Given the description of an element on the screen output the (x, y) to click on. 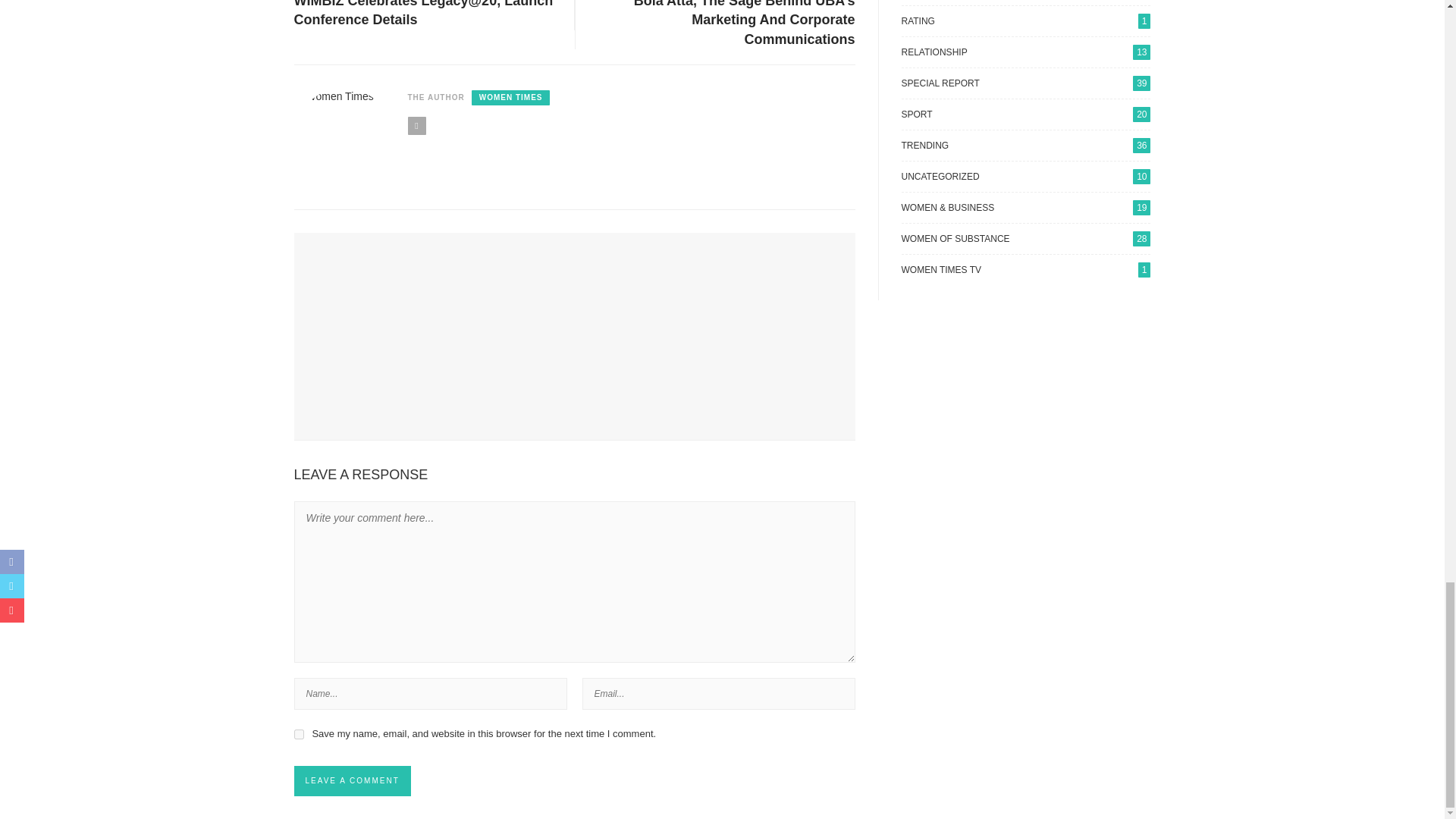
Leave a comment (352, 780)
yes (299, 734)
